Given the description of an element on the screen output the (x, y) to click on. 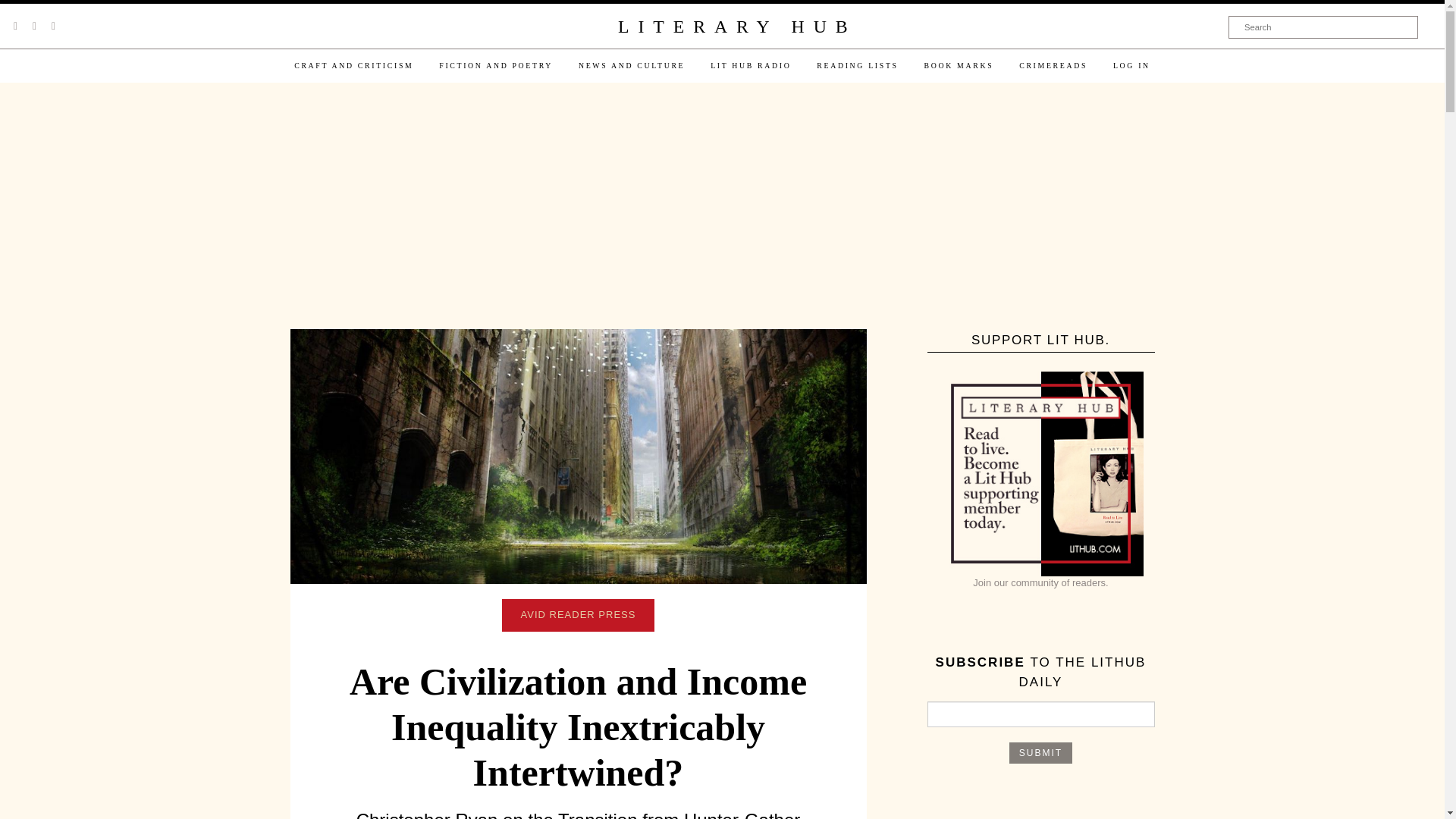
LITERARY HUB (736, 26)
Search (1323, 26)
FICTION AND POETRY (496, 65)
CRAFT AND CRITICISM (353, 65)
NEWS AND CULTURE (631, 65)
